Given the description of an element on the screen output the (x, y) to click on. 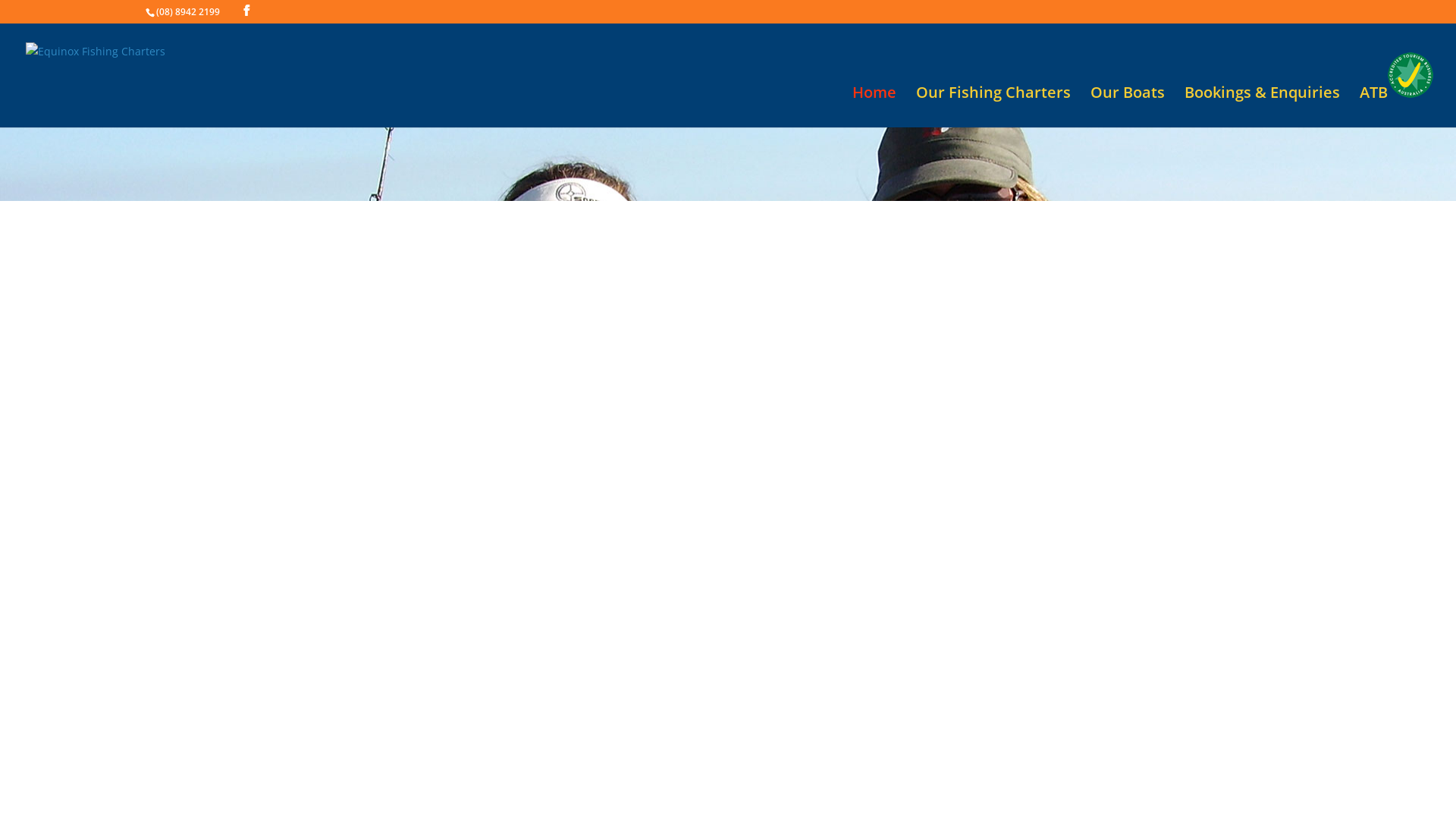
Bookings & Enquiries Element type: text (1261, 107)
Our Fishing Charters Element type: text (993, 107)
Home Element type: text (874, 107)
Our Boats Element type: text (1127, 107)
ATB Element type: text (1396, 89)
